Given the description of an element on the screen output the (x, y) to click on. 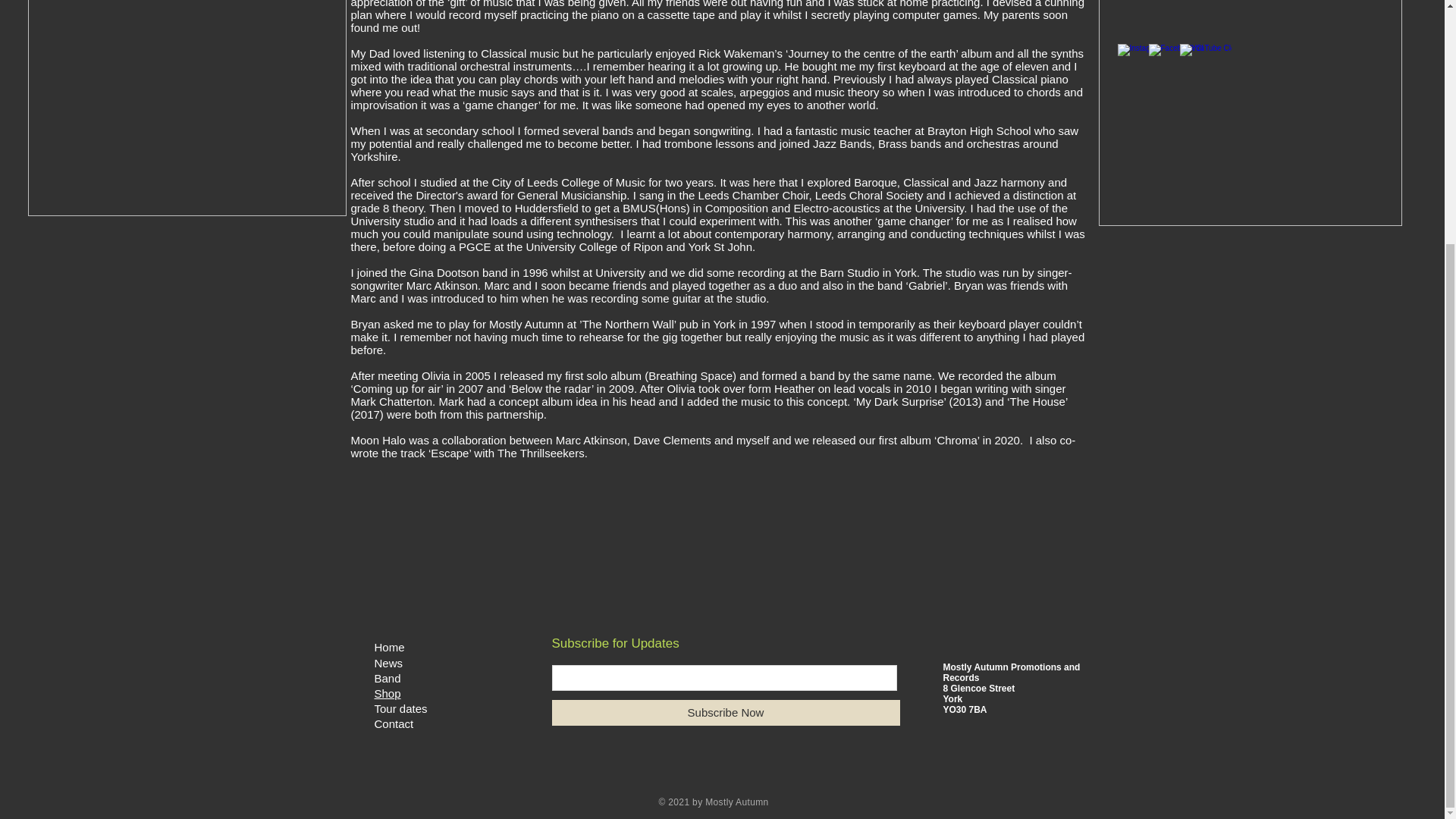
Subscribe Now (725, 712)
Home (389, 646)
MACresDec19-353.jpg (186, 108)
Band (387, 677)
Shop (387, 693)
Tour dates (401, 707)
News (388, 662)
Contact (393, 723)
MACresDec19-537.jpg (1248, 113)
